Given the description of an element on the screen output the (x, y) to click on. 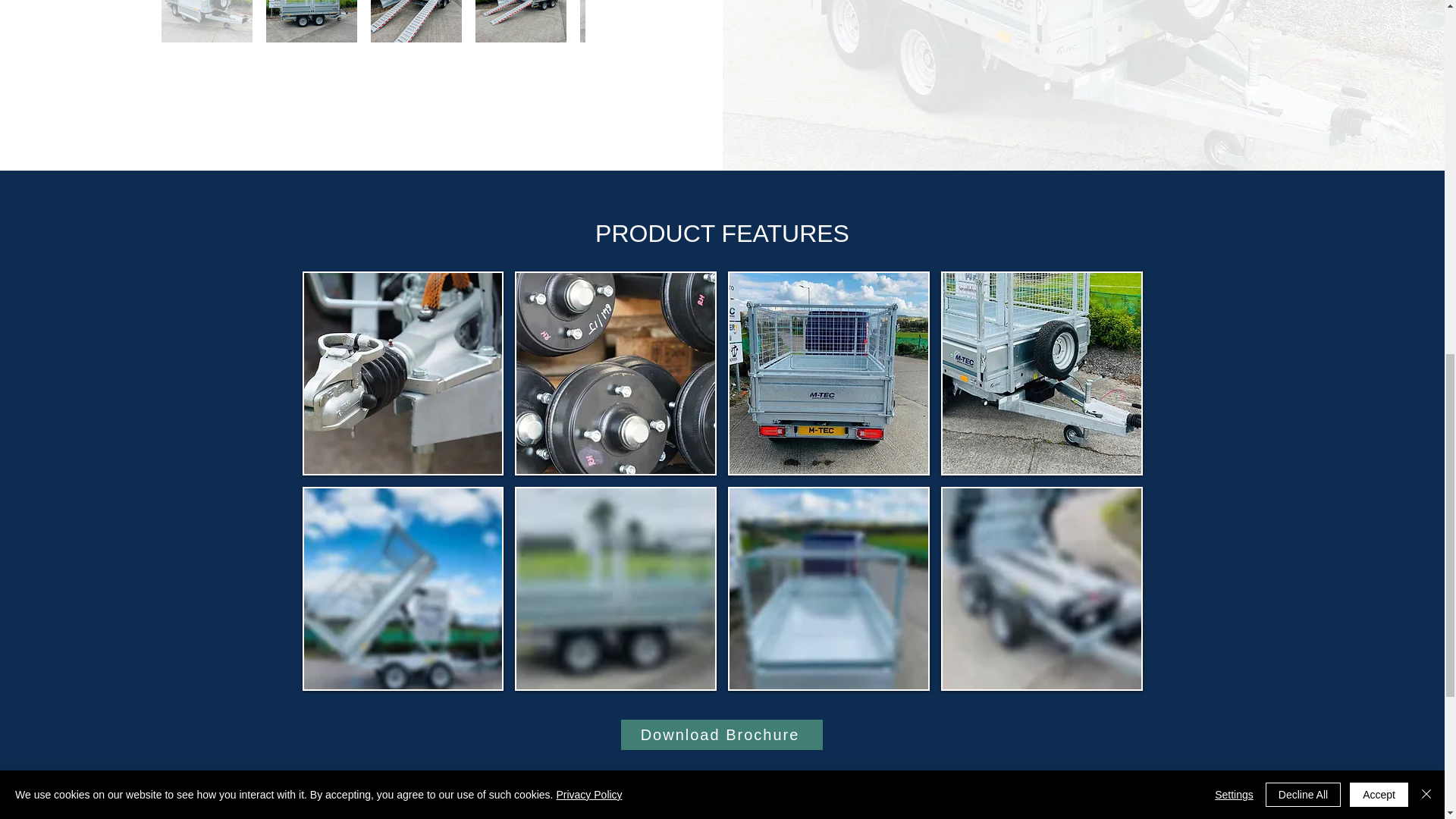
Download Brochure (721, 734)
